Given the description of an element on the screen output the (x, y) to click on. 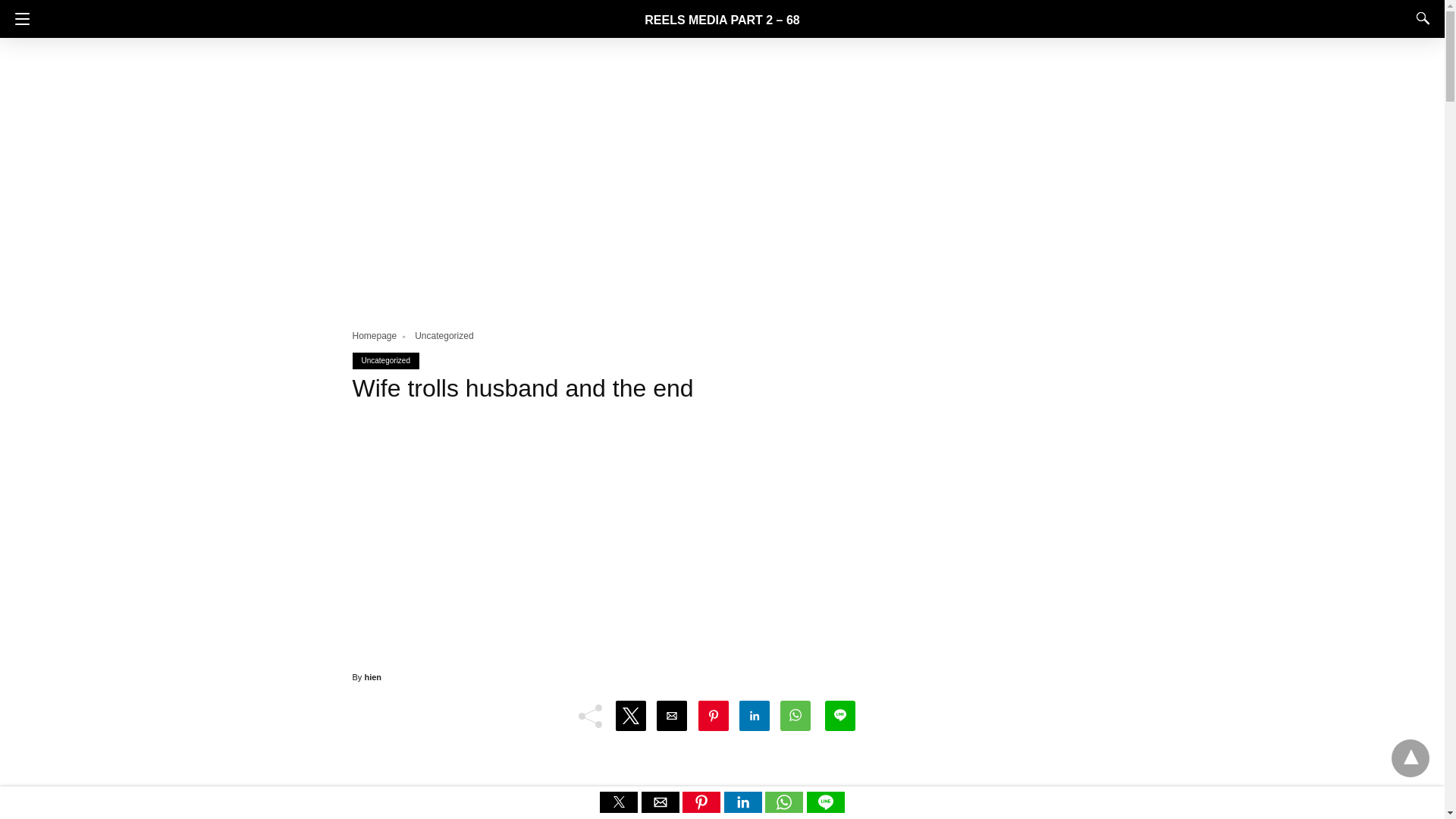
line share (825, 808)
Homepage (381, 335)
hien (372, 676)
Uncategorized (443, 335)
back to top (1410, 758)
Uncategorized (443, 335)
Homepage (381, 335)
Uncategorized (384, 359)
